Given the description of an element on the screen output the (x, y) to click on. 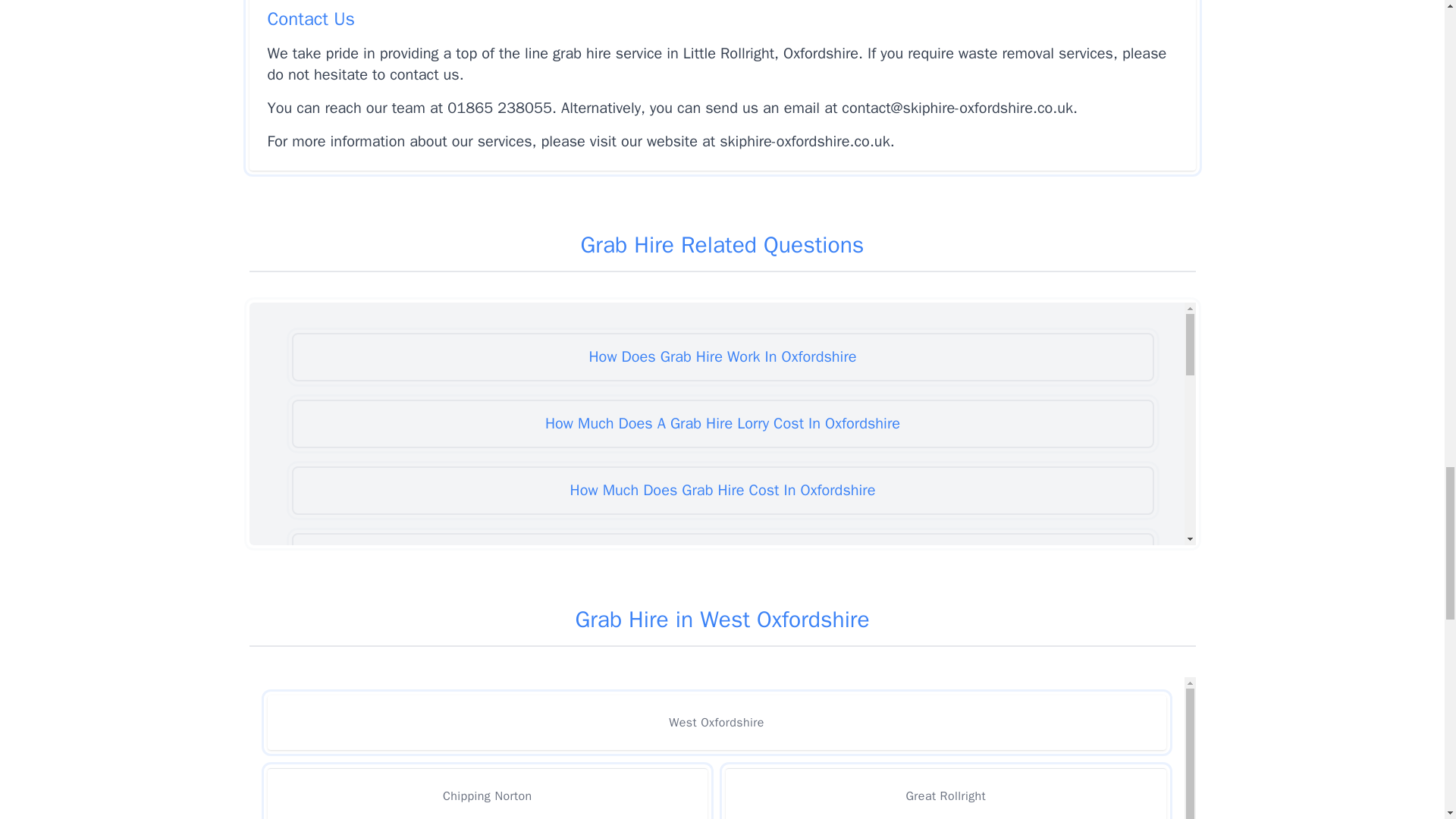
How Does Grab Hire Work In Oxfordshire (722, 356)
How Much Is A Grab Lorry To Hire In Oxfordshire (722, 757)
How Much Does Grab Hire Cost In Oxfordshire (722, 490)
How Much Is A Grab Hire In Oxfordshire (722, 690)
How Much Is Grab Hire In Oxfordshire (722, 809)
How Much For Grab Hire In Oxfordshire (722, 623)
How Much Does A Grab Hire Lorry Cost In Oxfordshire (722, 423)
How Much Does It Cost To Hire A Grab Lorry In Oxfordshire (722, 557)
